Given the description of an element on the screen output the (x, y) to click on. 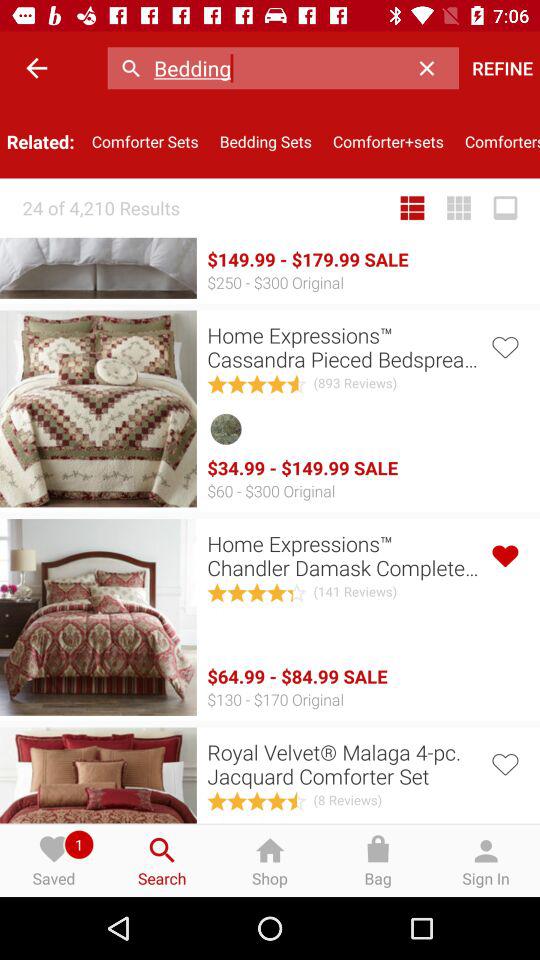
click the icon below the refine item (497, 141)
